Given the description of an element on the screen output the (x, y) to click on. 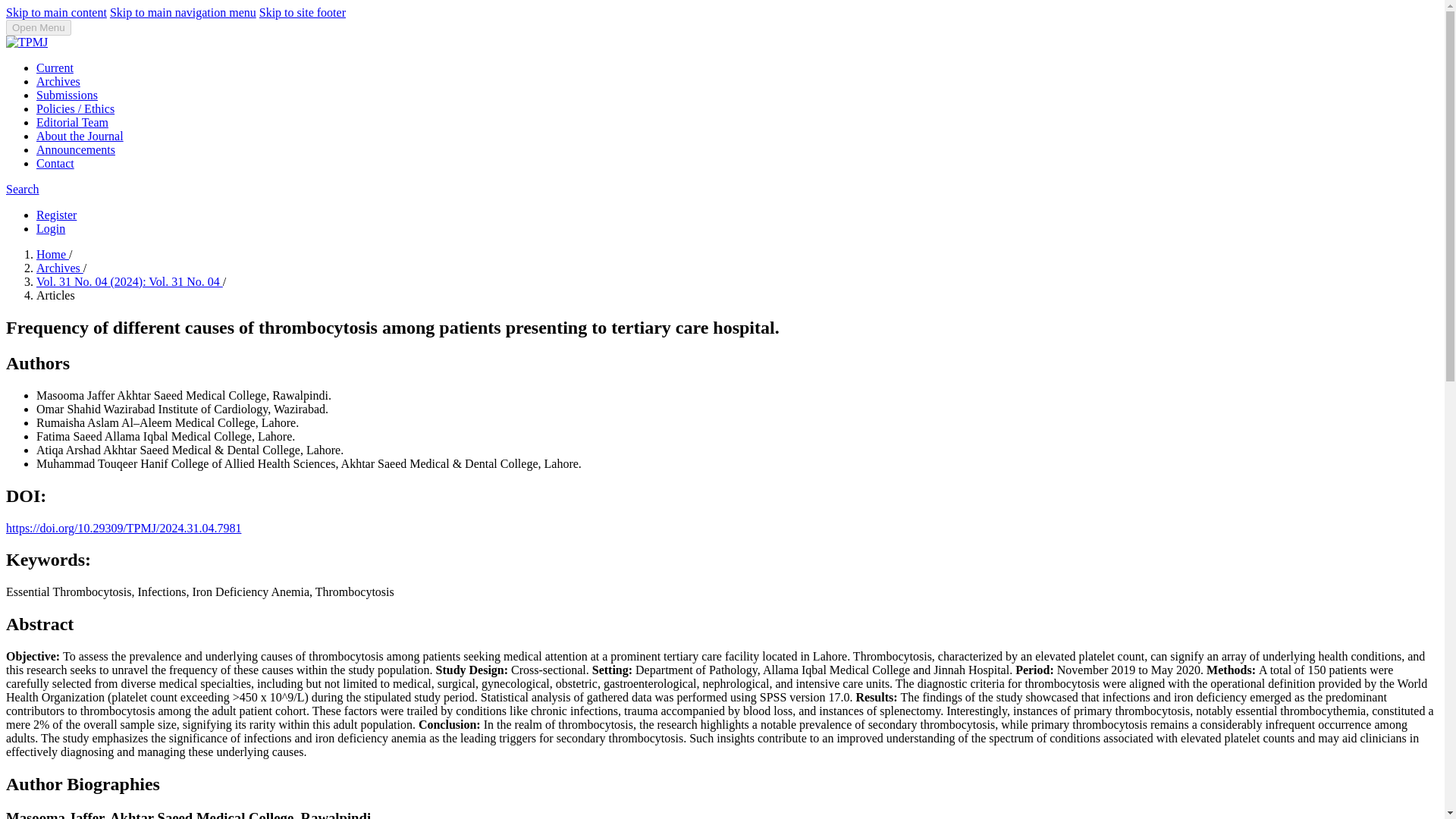
About the Journal (79, 135)
Announcements (75, 149)
Search (22, 188)
Archives (59, 267)
Login (50, 228)
Home (52, 254)
Current (55, 67)
Editorial Team (71, 122)
Skip to main navigation menu (183, 11)
Register (56, 214)
